Given the description of an element on the screen output the (x, y) to click on. 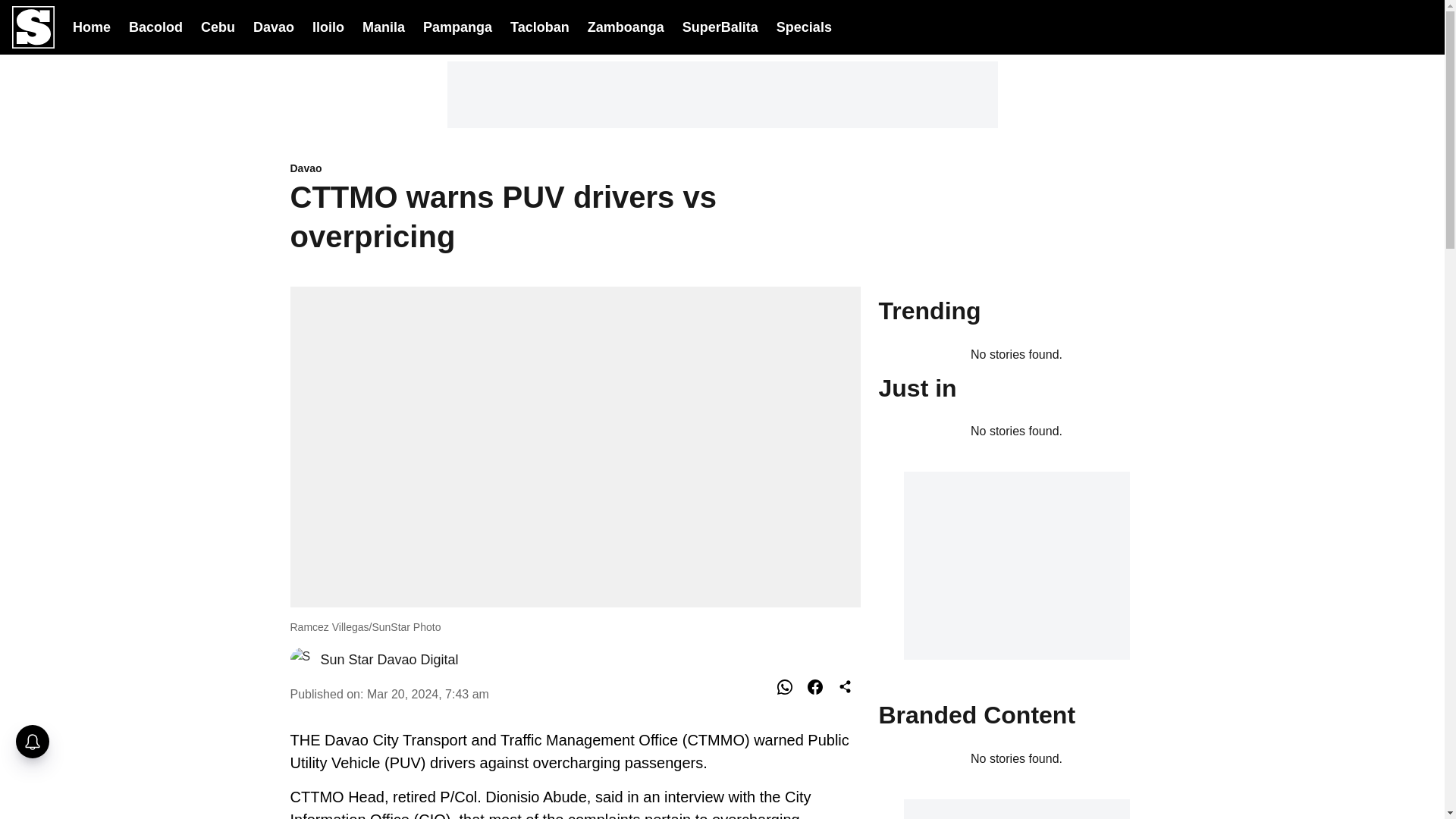
Cebu (217, 26)
Davao (574, 169)
Zamboanga (625, 26)
Iloilo (328, 26)
Manila (383, 26)
Pampanga (457, 26)
Dark Mode (1382, 27)
2024-03-20 07:43 (427, 693)
Home (91, 26)
